Given the description of an element on the screen output the (x, y) to click on. 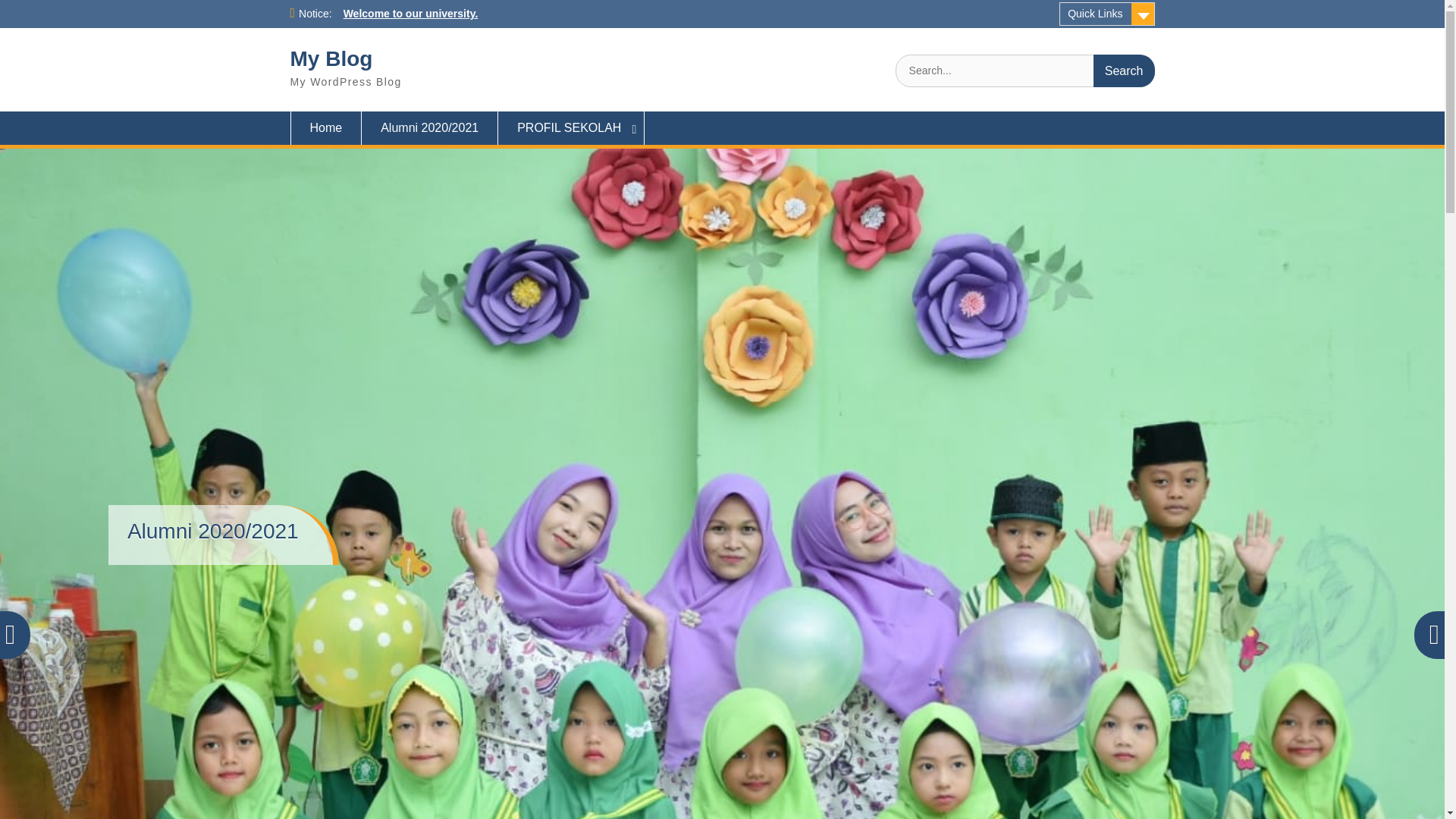
My Blog (330, 58)
Search (1123, 70)
PROFIL SEKOLAH (571, 127)
Welcome to our university. (411, 13)
Quick Links (1106, 13)
Search (1123, 70)
Search for: (1024, 70)
Home (325, 127)
Search (1123, 70)
